Given the description of an element on the screen output the (x, y) to click on. 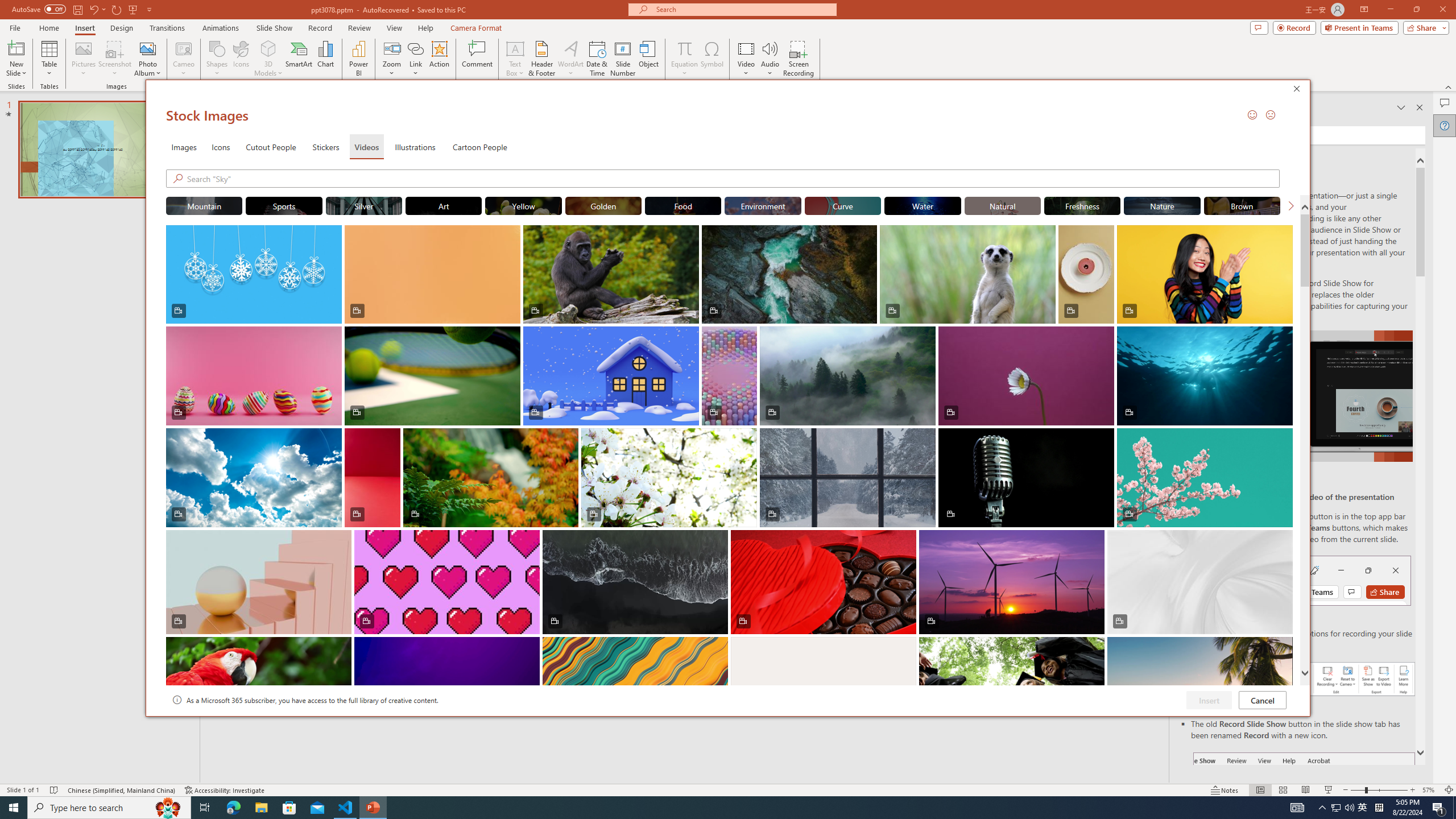
Header & Footer... (541, 58)
Symbol... (711, 58)
Chart... (325, 58)
